Given the description of an element on the screen output the (x, y) to click on. 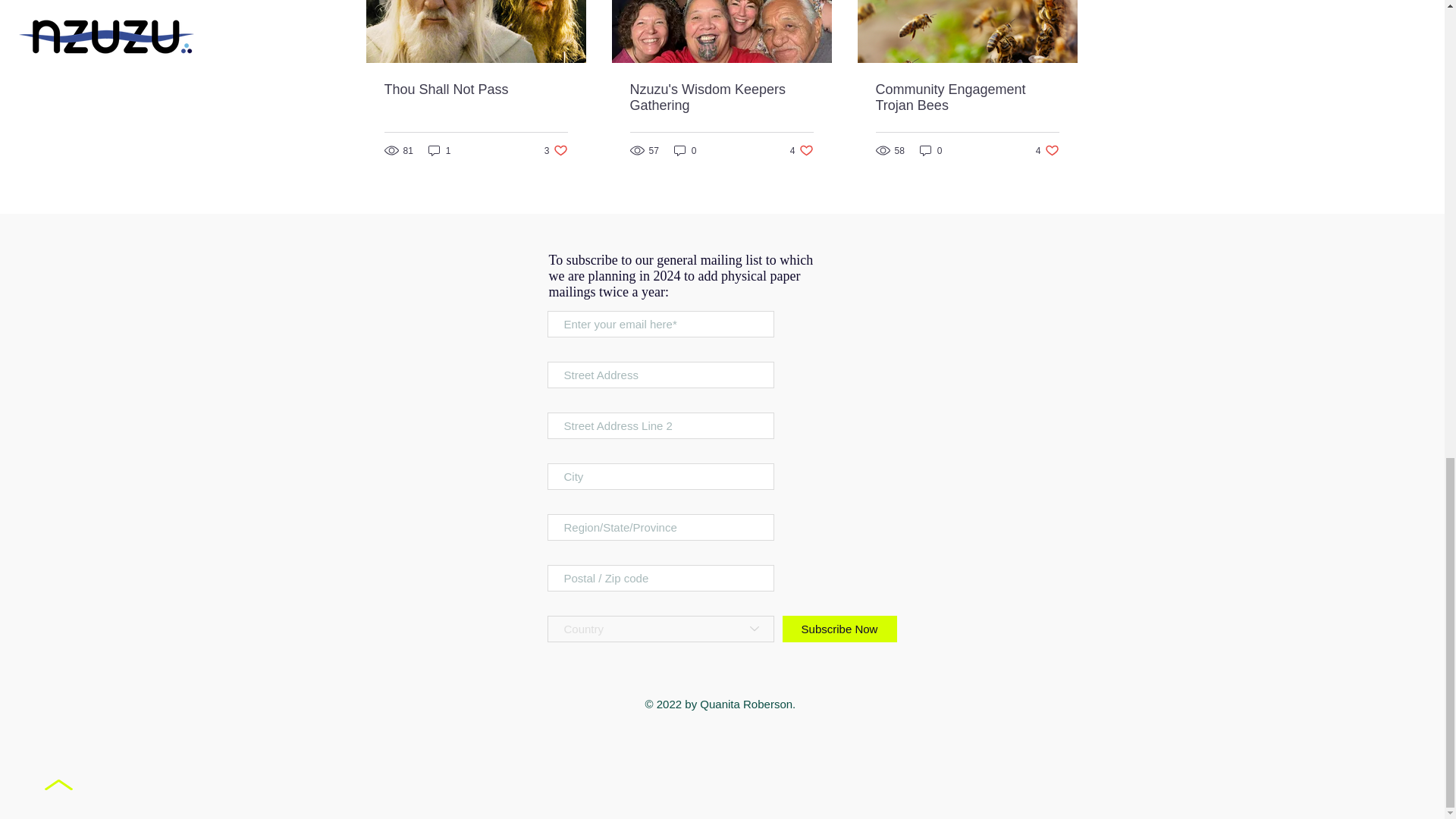
1 (439, 150)
Thou Shall Not Pass (475, 89)
